Given the description of an element on the screen output the (x, y) to click on. 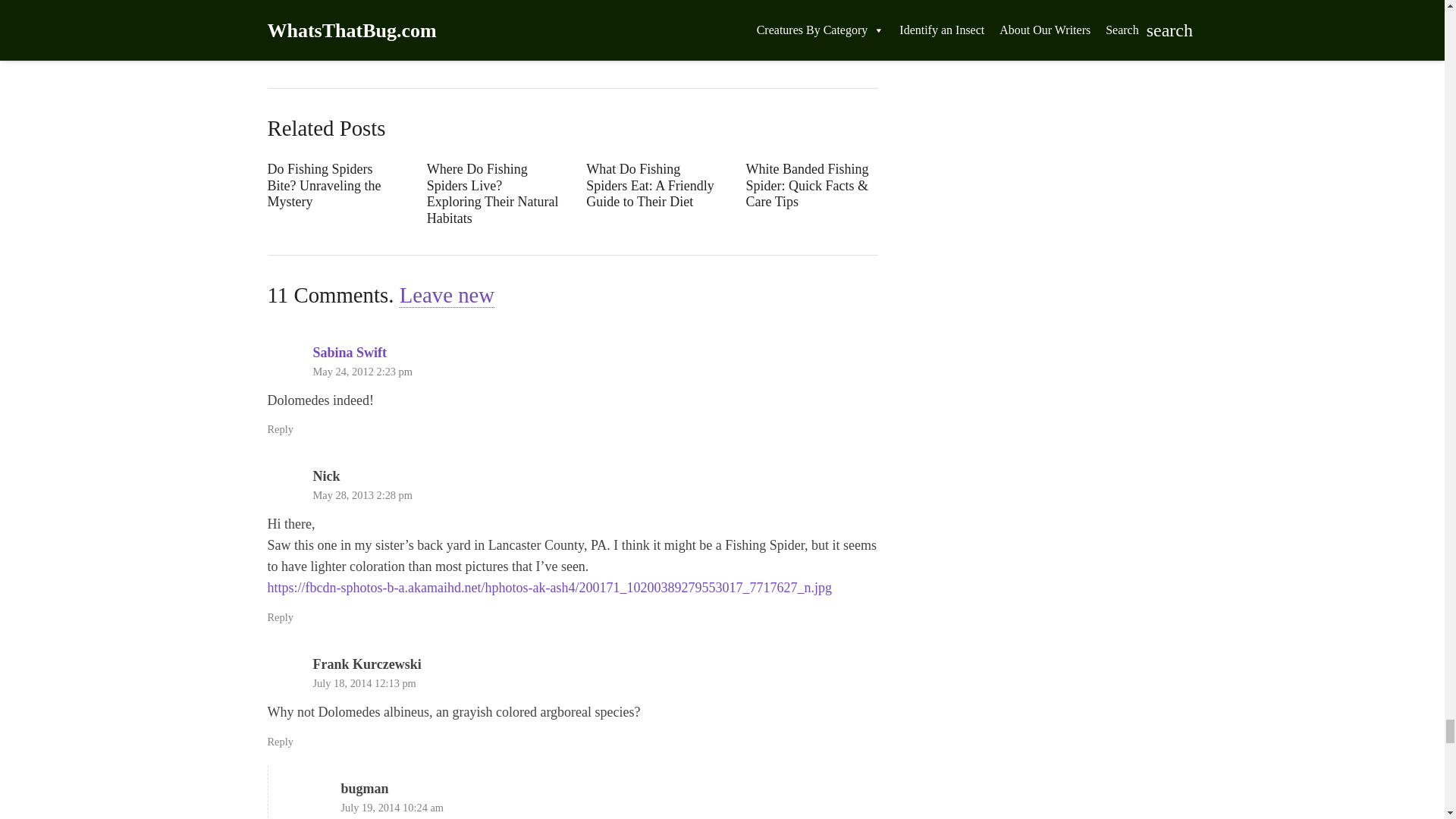
Tweet this (386, 8)
Share this (430, 8)
Do Fishing Spiders Bite? Unraveling the Mystery (332, 194)
Share this (344, 8)
May 24, 2012 2:23 pm (362, 371)
What Do Fishing Spiders Eat: A Friendly Guide to Their Diet (652, 194)
Share this (562, 8)
July 19, 2014 10:24 am (392, 807)
Share this (517, 8)
Email this (293, 8)
Pin this (475, 8)
May 28, 2013 2:28 pm (362, 494)
July 18, 2014 12:13 pm (363, 683)
